Given the description of an element on the screen output the (x, y) to click on. 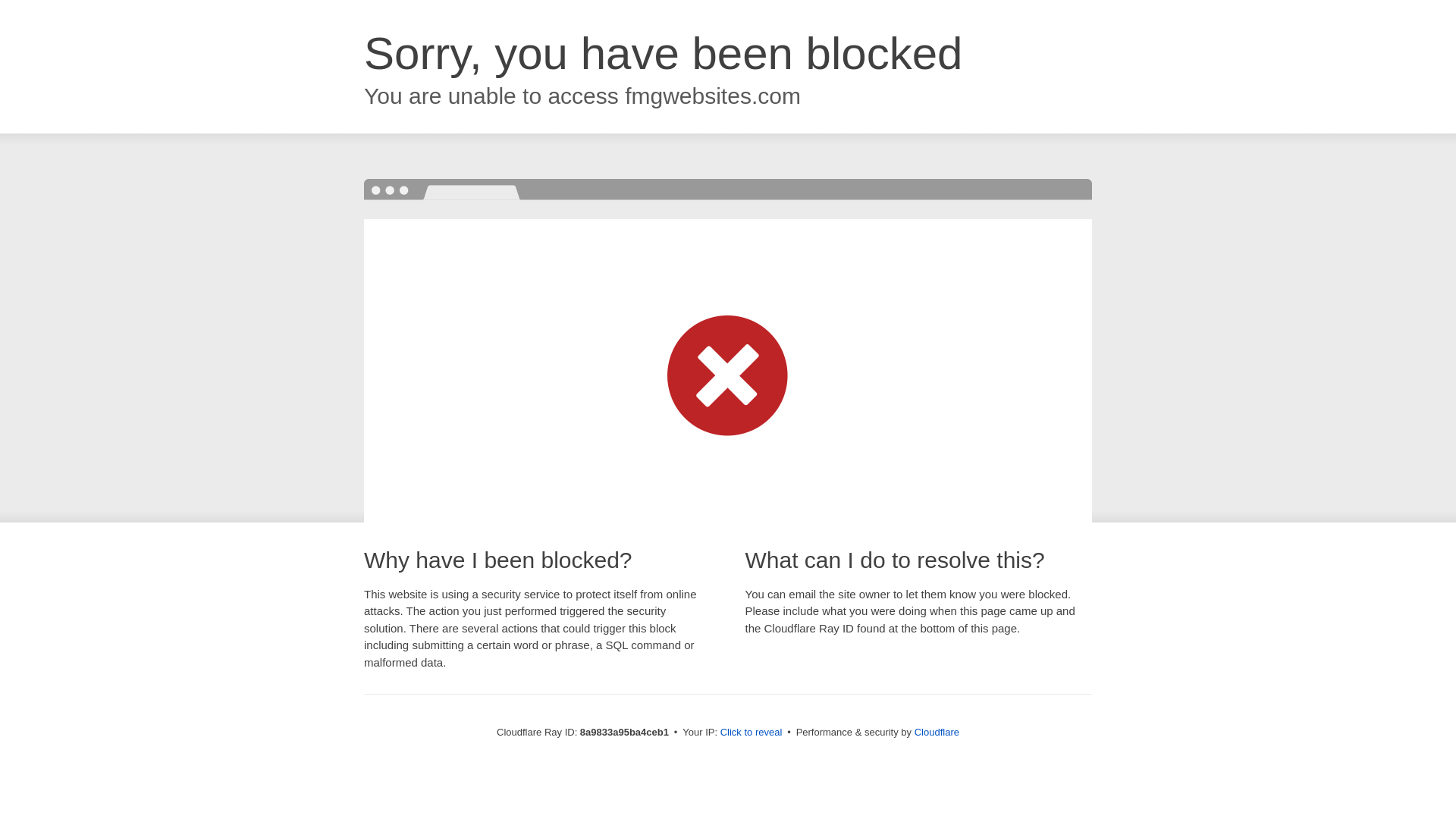
Cloudflare (936, 731)
Click to reveal (751, 732)
